Given the description of an element on the screen output the (x, y) to click on. 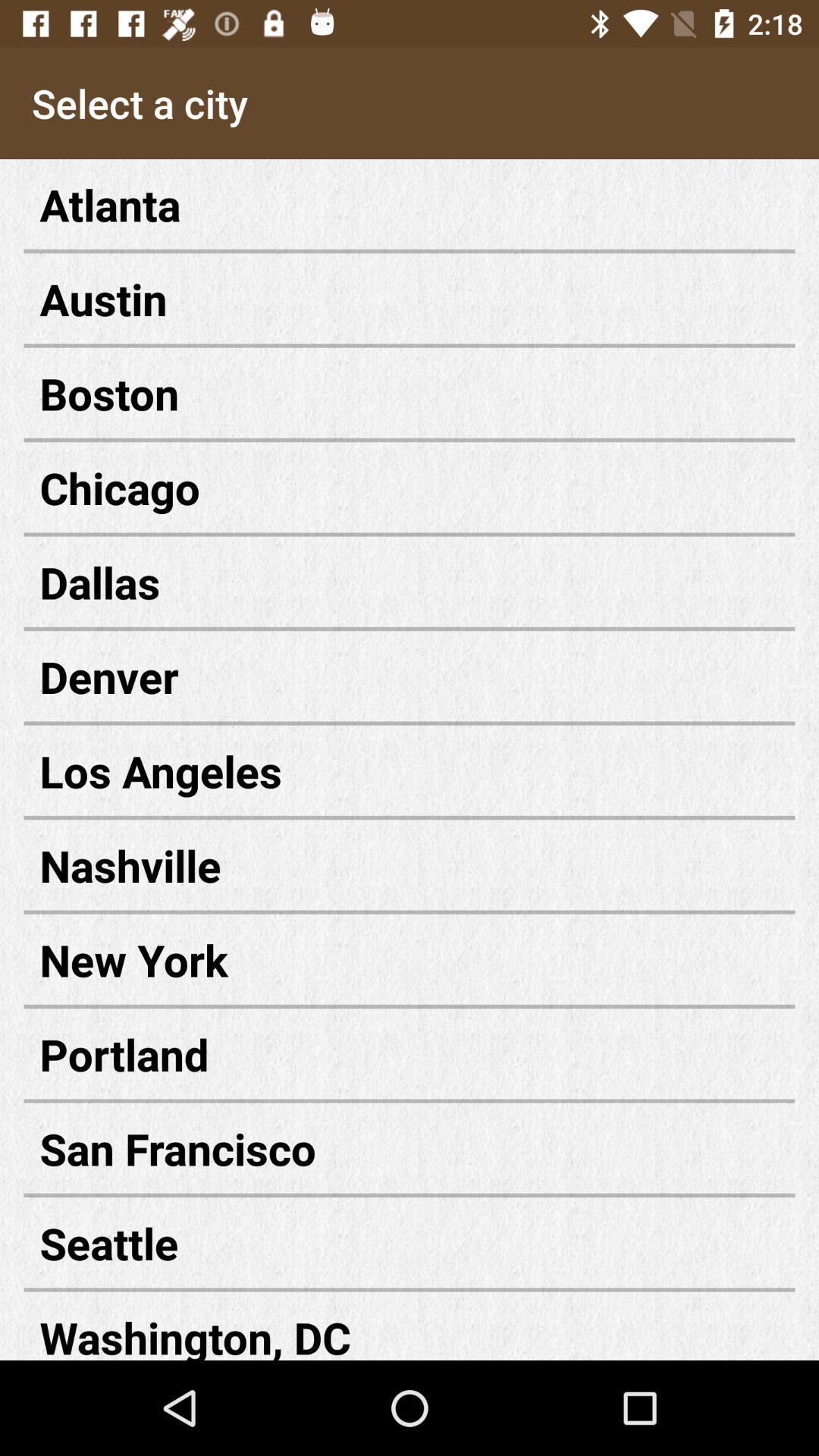
turn on the item above the austin item (409, 204)
